Given the description of an element on the screen output the (x, y) to click on. 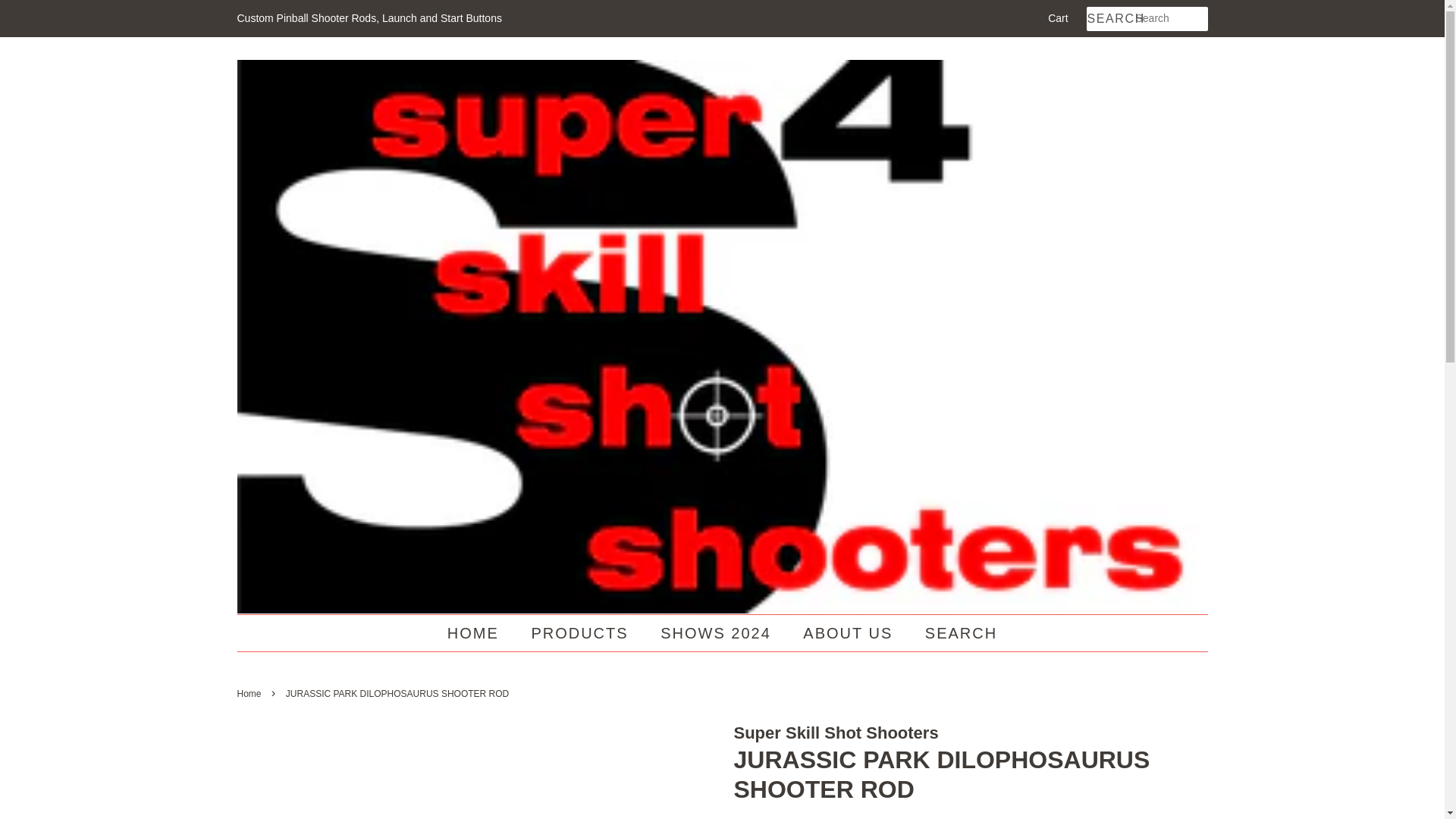
PRODUCTS (581, 633)
SEARCH (955, 633)
Home (249, 693)
Cart (1057, 18)
SEARCH (1110, 18)
HOME (479, 633)
SHOWS 2024 (717, 633)
Back to the frontpage (249, 693)
ABOUT US (849, 633)
